Given the description of an element on the screen output the (x, y) to click on. 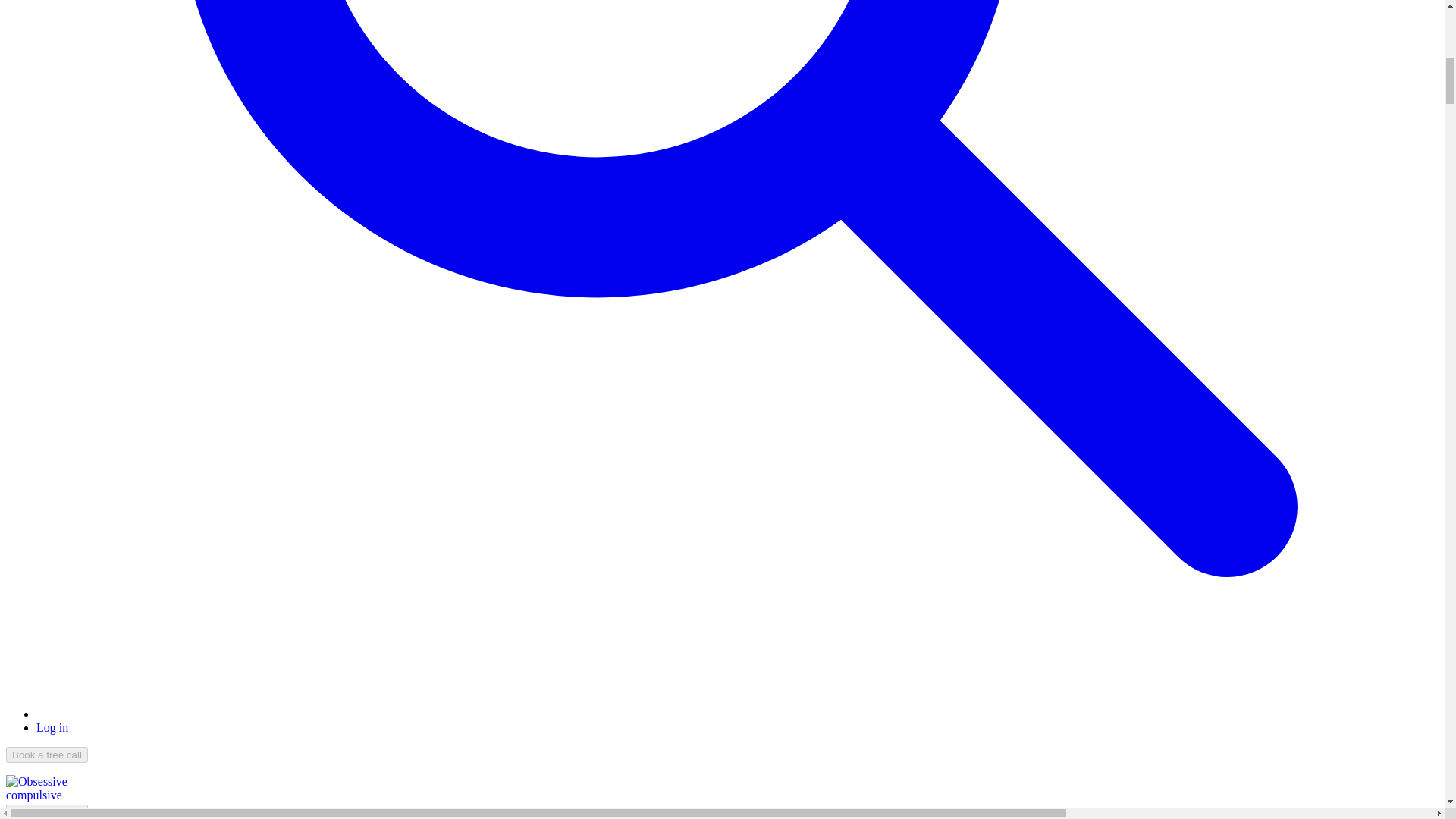
Log in (52, 727)
Book a free call (46, 811)
Book a free call (46, 754)
